Given the description of an element on the screen output the (x, y) to click on. 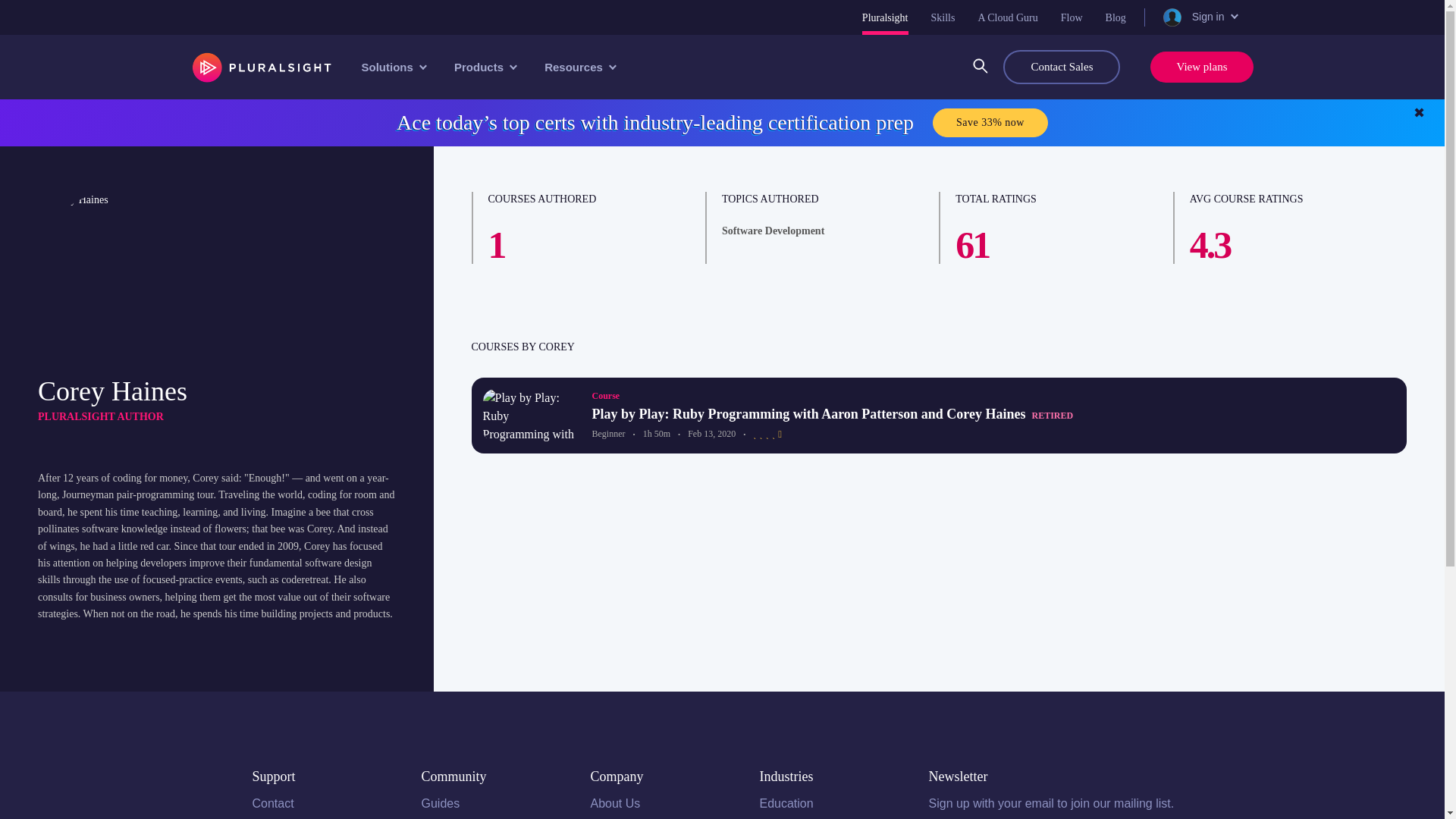
Pluralsight (884, 16)
Flow (1072, 16)
Products (483, 66)
Skills (943, 16)
Blog (1115, 16)
Sign in (1198, 17)
A Cloud Guru (1006, 16)
Solutions (392, 66)
